Given the description of an element on the screen output the (x, y) to click on. 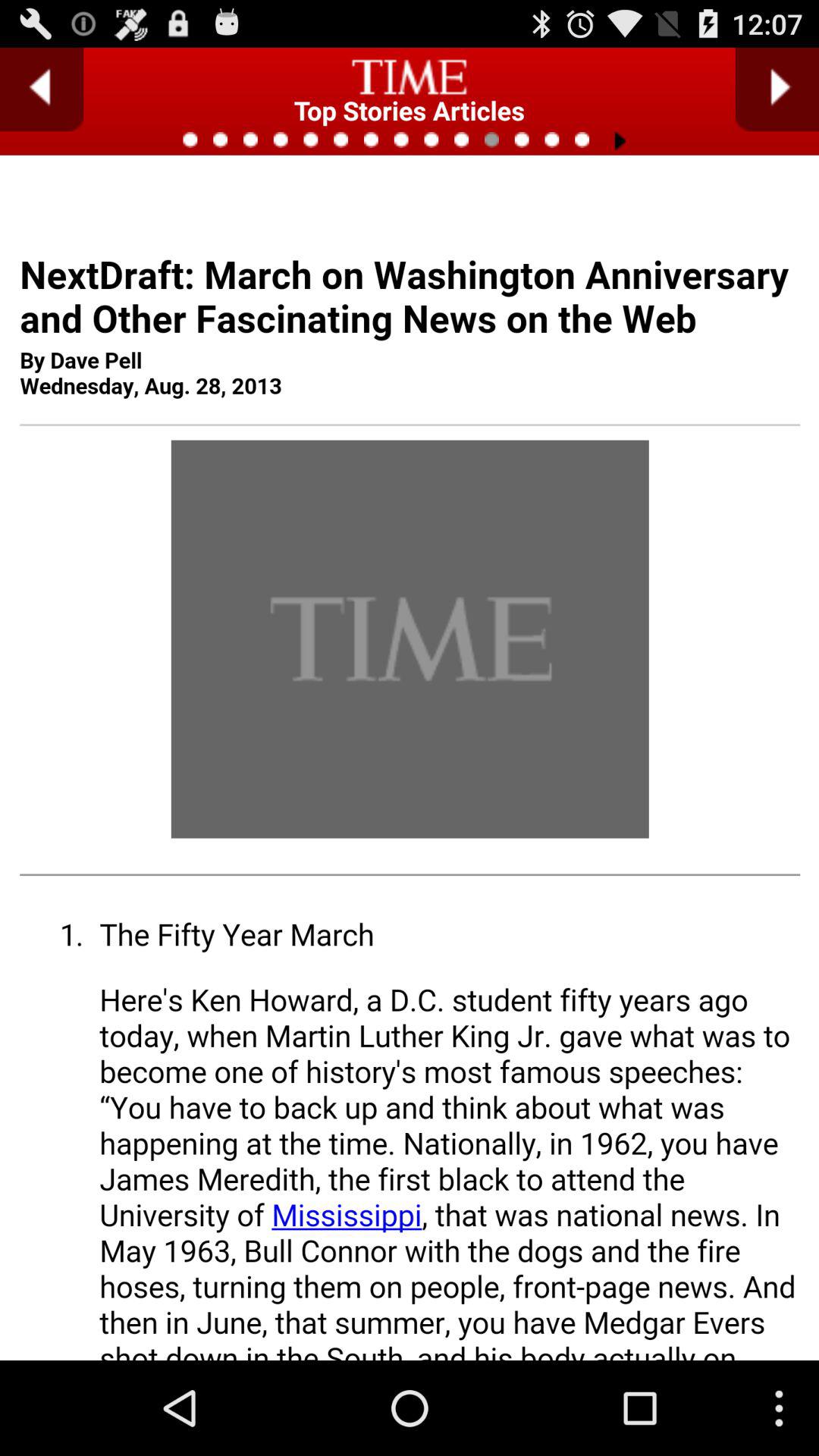
launch app to the left of the top stories articles item (41, 89)
